Given the description of an element on the screen output the (x, y) to click on. 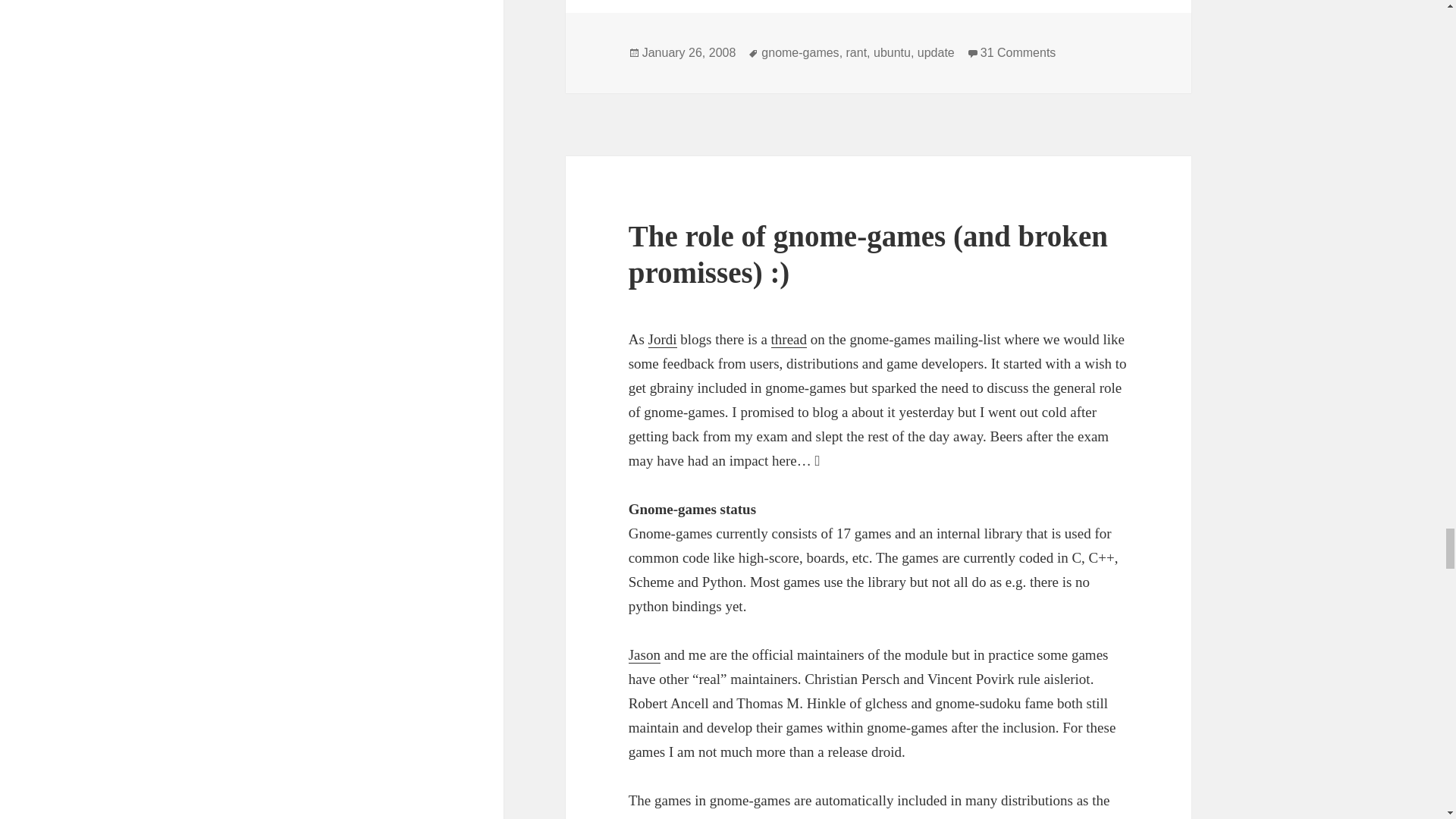
Jason (1018, 52)
gnome-games (644, 655)
thread (799, 52)
update (788, 339)
January 26, 2008 (936, 52)
ubuntu (689, 52)
rant (892, 52)
Jordi (856, 52)
